Given the description of an element on the screen output the (x, y) to click on. 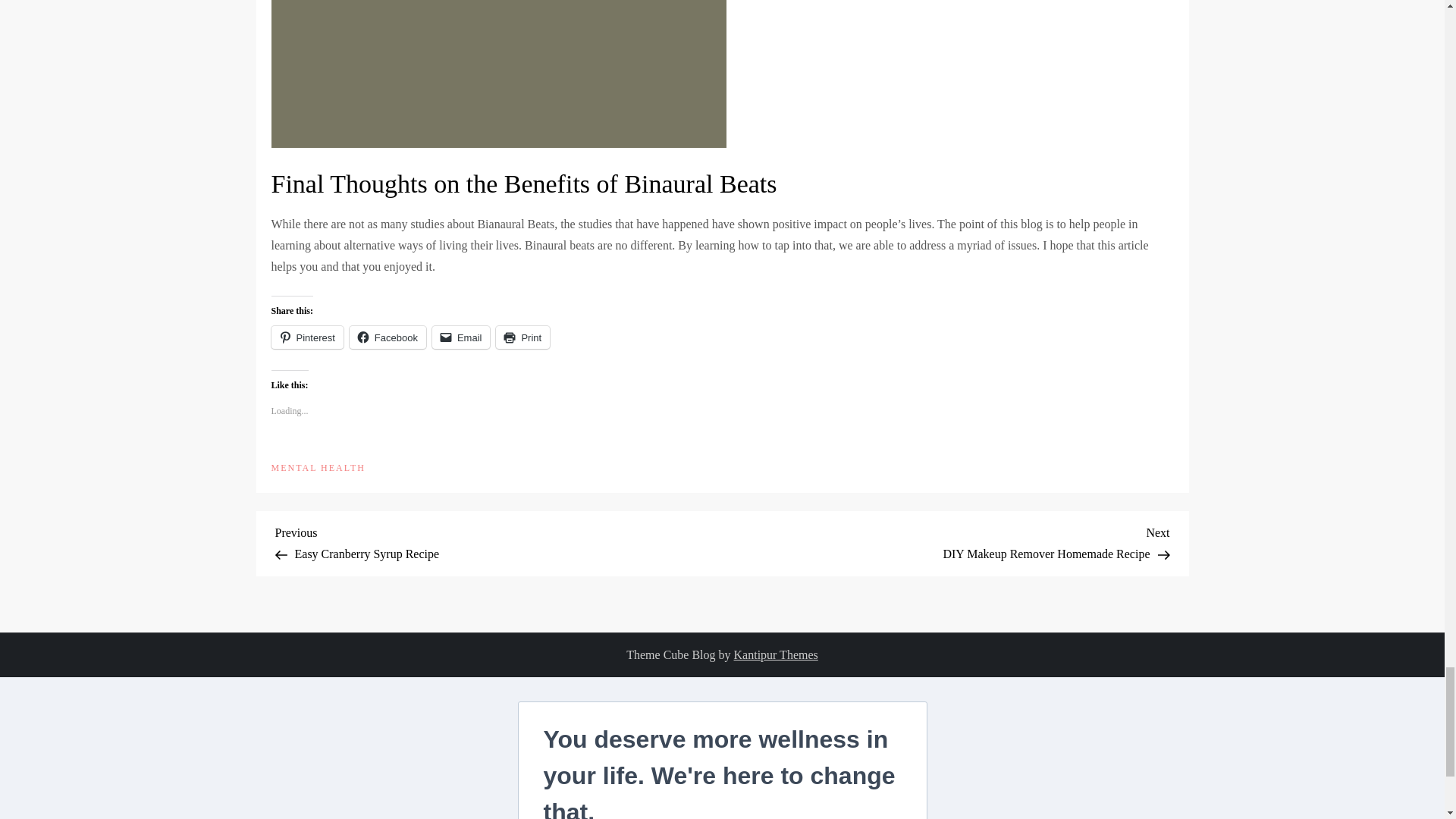
MENTAL HEALTH (317, 468)
Print (523, 336)
Facebook (387, 336)
Email (461, 336)
Click to share on Facebook (387, 336)
Kantipur Themes (945, 541)
Click to print (775, 654)
Pinterest (498, 541)
